Given the description of an element on the screen output the (x, y) to click on. 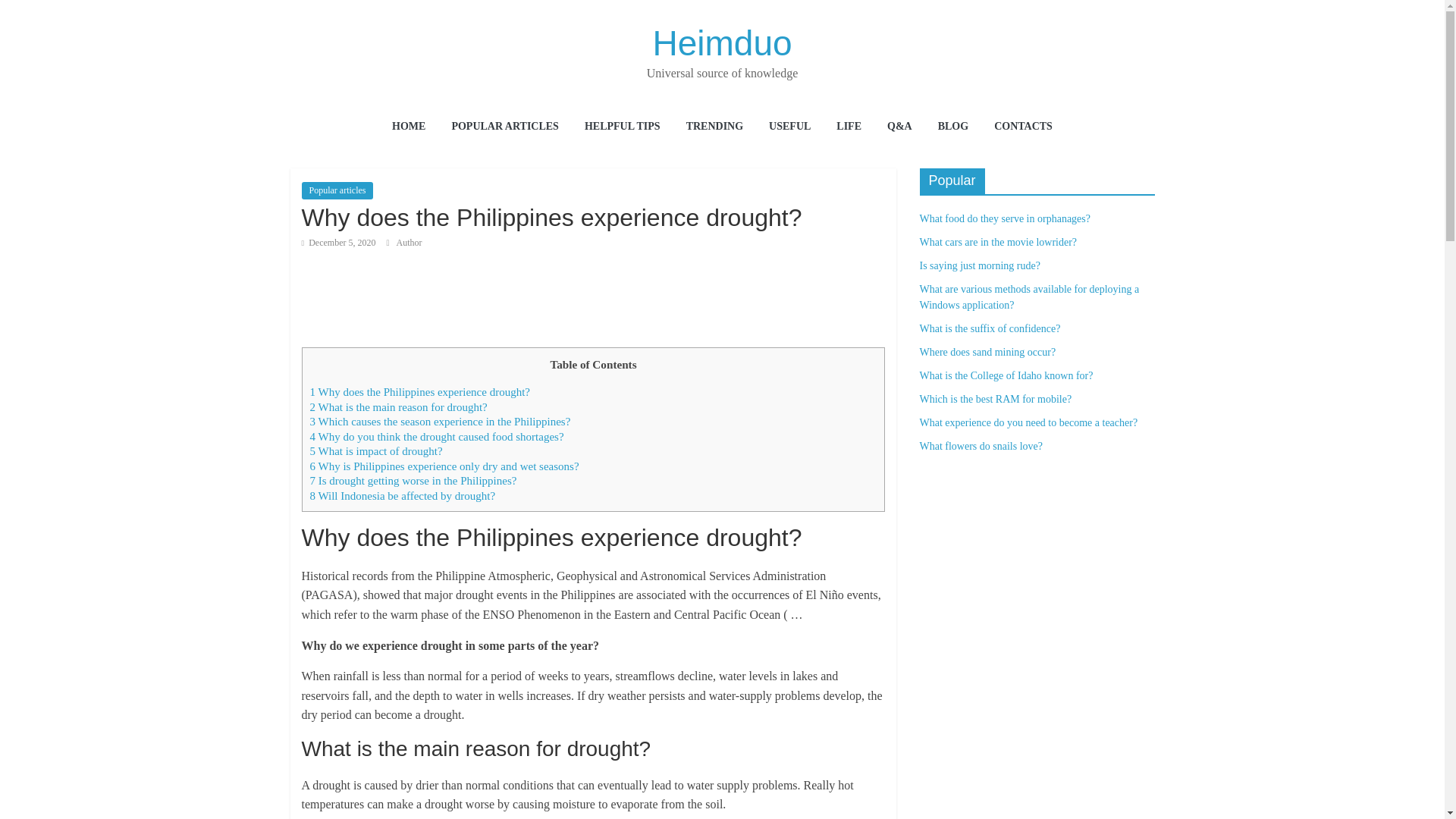
What food do they serve in orphanages? (1003, 218)
Heimduo (722, 43)
POPULAR ARTICLES (504, 126)
Is saying just morning rude? (978, 265)
Which is the best RAM for mobile? (994, 398)
Author (409, 242)
4 Why do you think the drought caused food shortages? (435, 436)
December 5, 2020 (338, 242)
8 Will Indonesia be affected by drought? (401, 495)
6 Why is Philippines experience only dry and wet seasons? (443, 466)
